Given the description of an element on the screen output the (x, y) to click on. 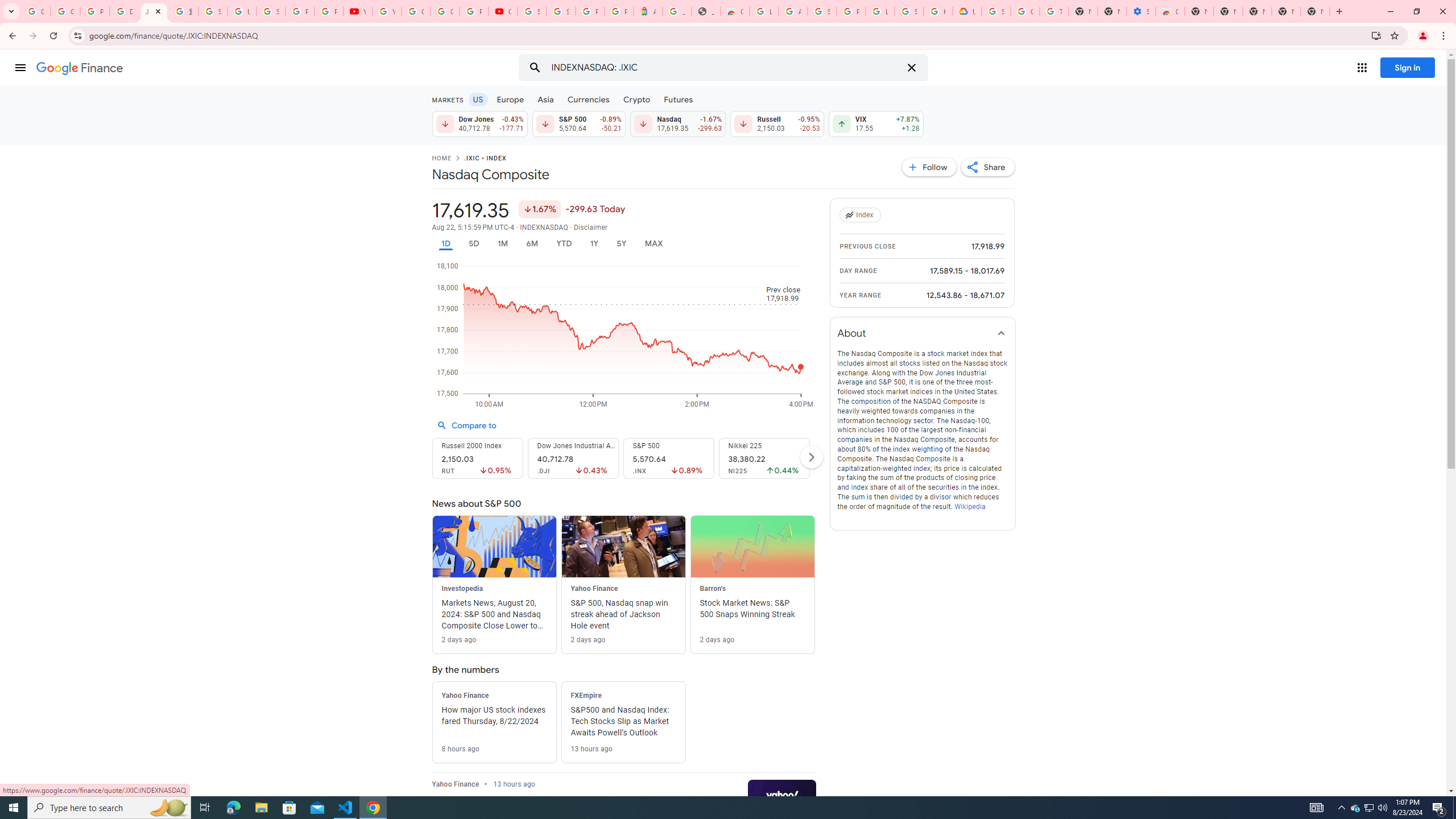
Search (534, 67)
VIX 17.55 Up by 7.87% +1.28 (875, 123)
Futures (678, 99)
Main menu (20, 67)
Ad Settings (792, 11)
Sign in - Google Accounts (271, 11)
